Given the description of an element on the screen output the (x, y) to click on. 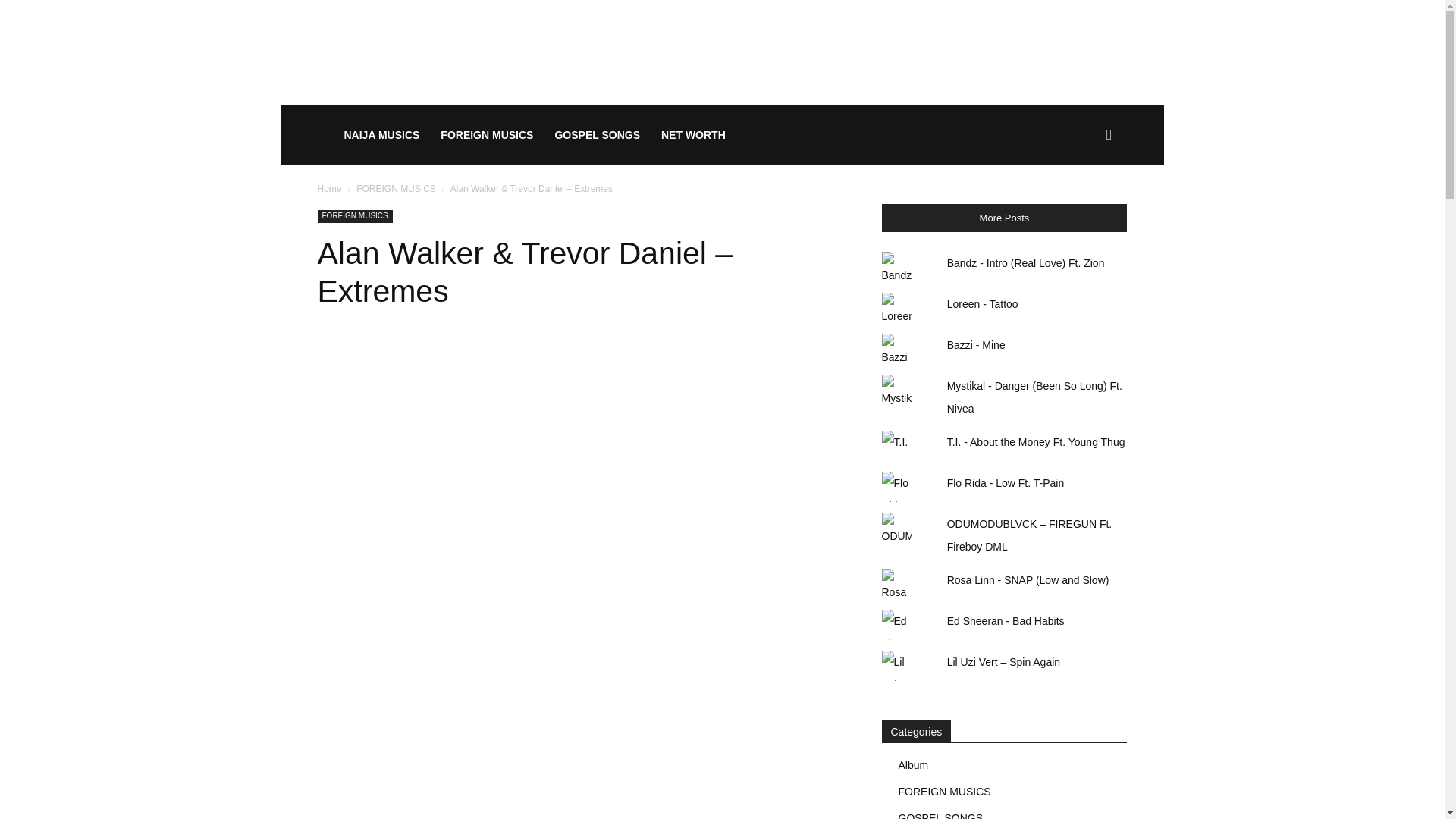
Advertisement (721, 52)
Search (1085, 207)
FOREIGN MUSICS (354, 434)
FOREIGN MUSICS (395, 188)
Storiesandbeats (438, 134)
NET WORTH (947, 134)
NAIJA MUSICS (615, 134)
Advertisement (580, 315)
View all posts in FOREIGN MUSICS (395, 188)
Home (328, 188)
